Given the description of an element on the screen output the (x, y) to click on. 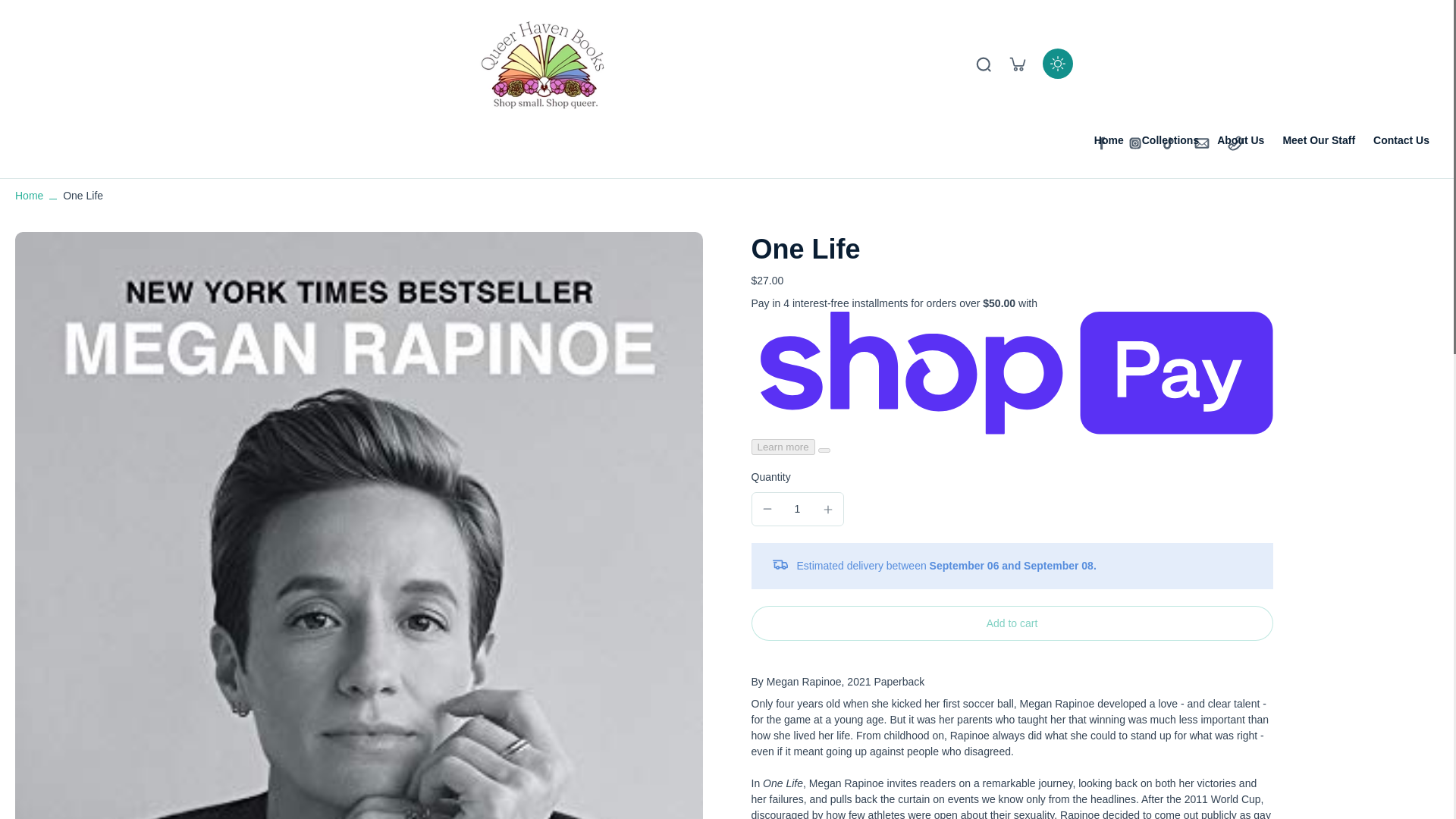
1 (797, 509)
Skip to product information (34, 242)
Home (1109, 140)
Skip to content (19, 10)
About Us (1240, 140)
Home (28, 195)
Collections (1169, 140)
Meet Our Staff (1318, 140)
Home (28, 195)
Contact Us (1401, 140)
